Given the description of an element on the screen output the (x, y) to click on. 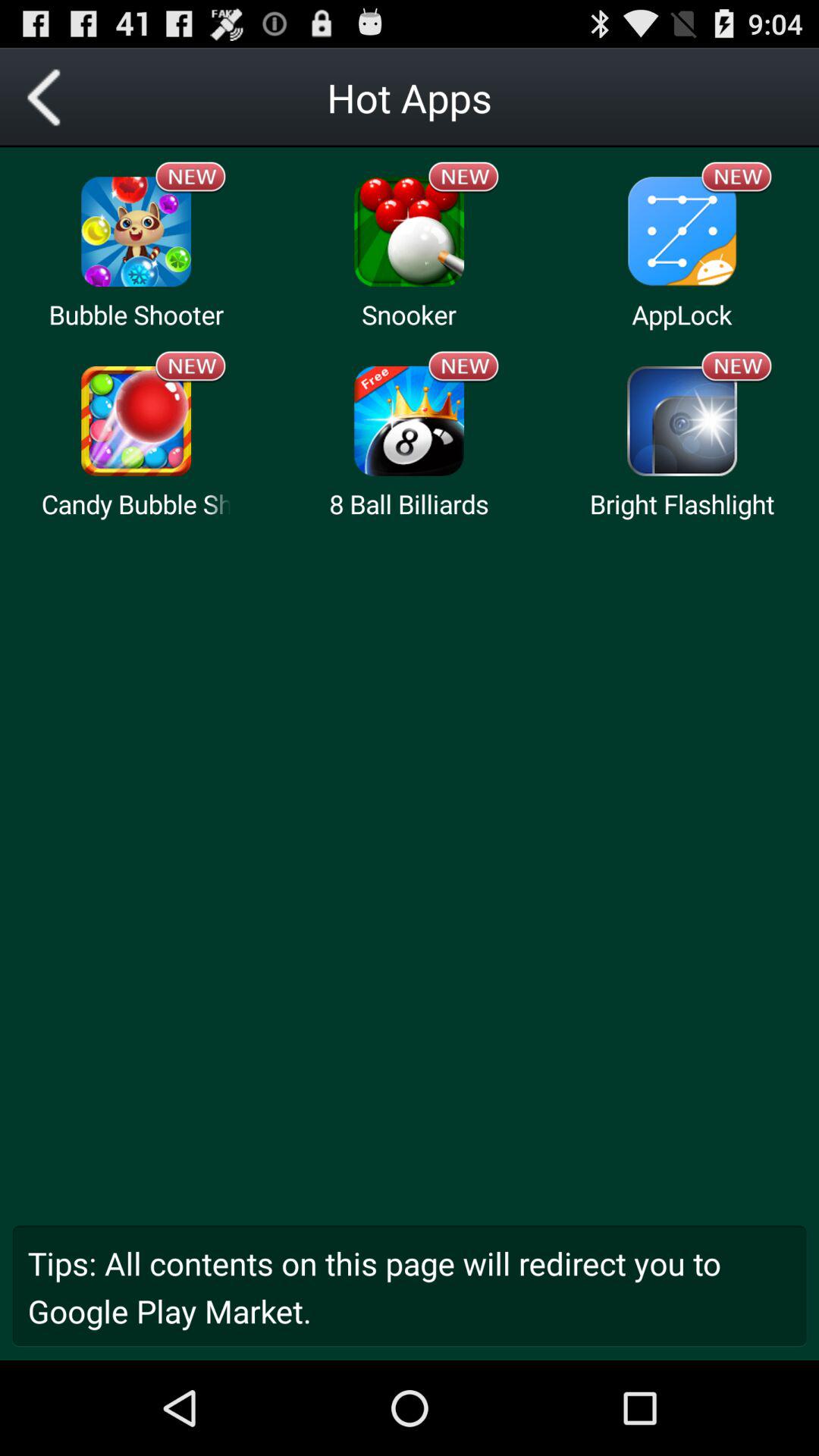
exit out of apps menu (49, 97)
